Given the description of an element on the screen output the (x, y) to click on. 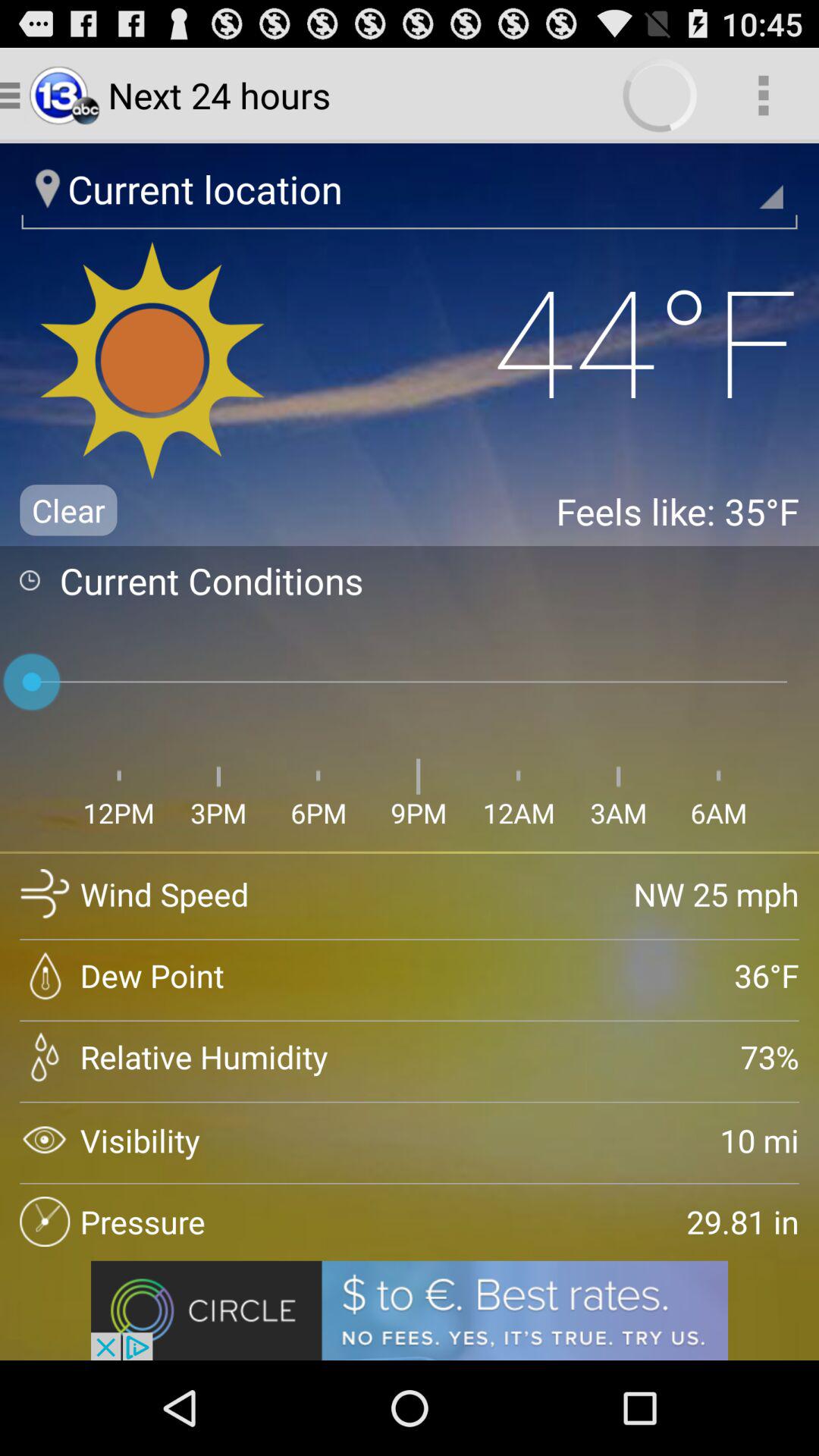
links to an external advertisement (409, 1310)
